Given the description of an element on the screen output the (x, y) to click on. 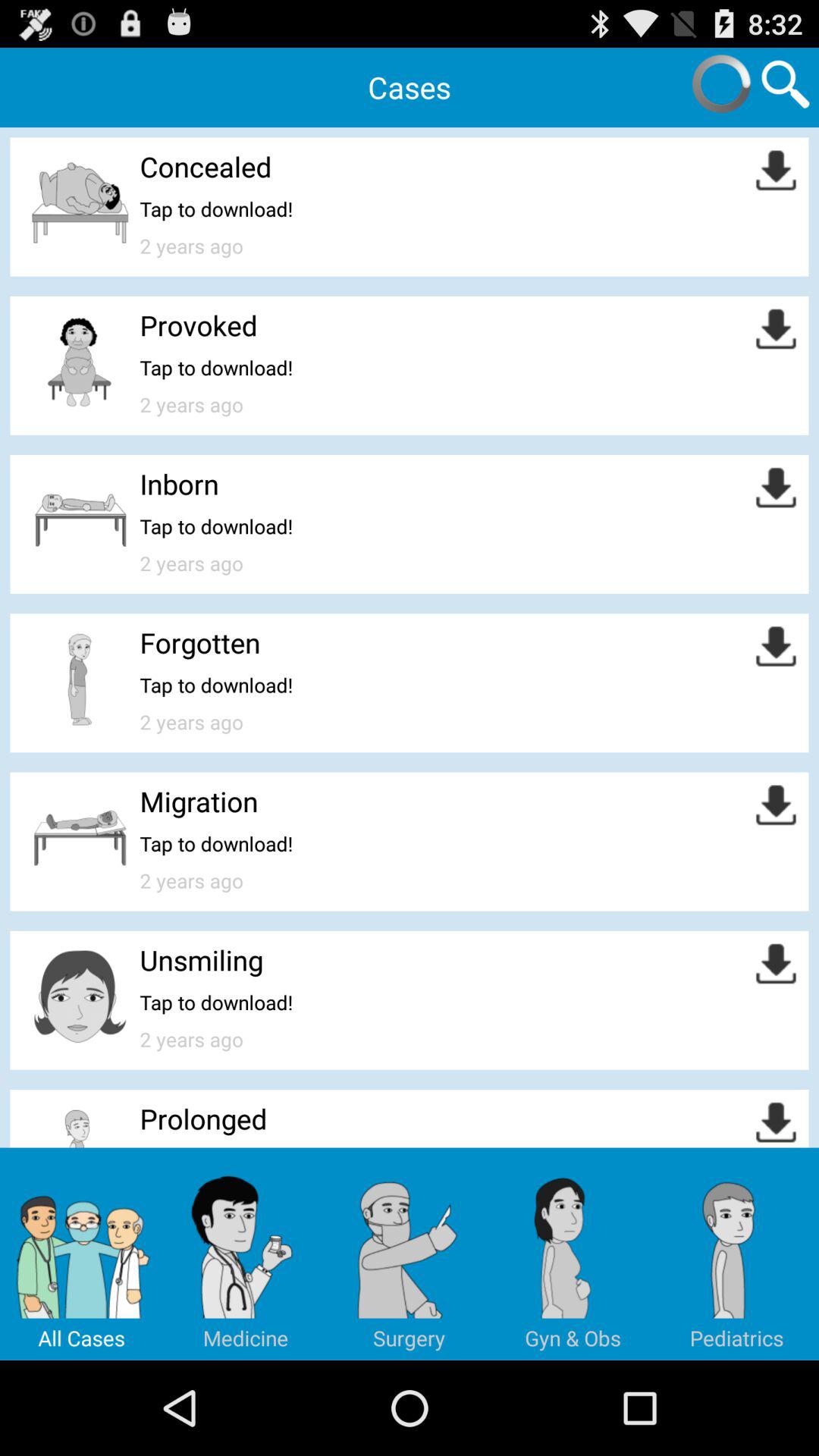
swipe to forgotten (199, 642)
